Given the description of an element on the screen output the (x, y) to click on. 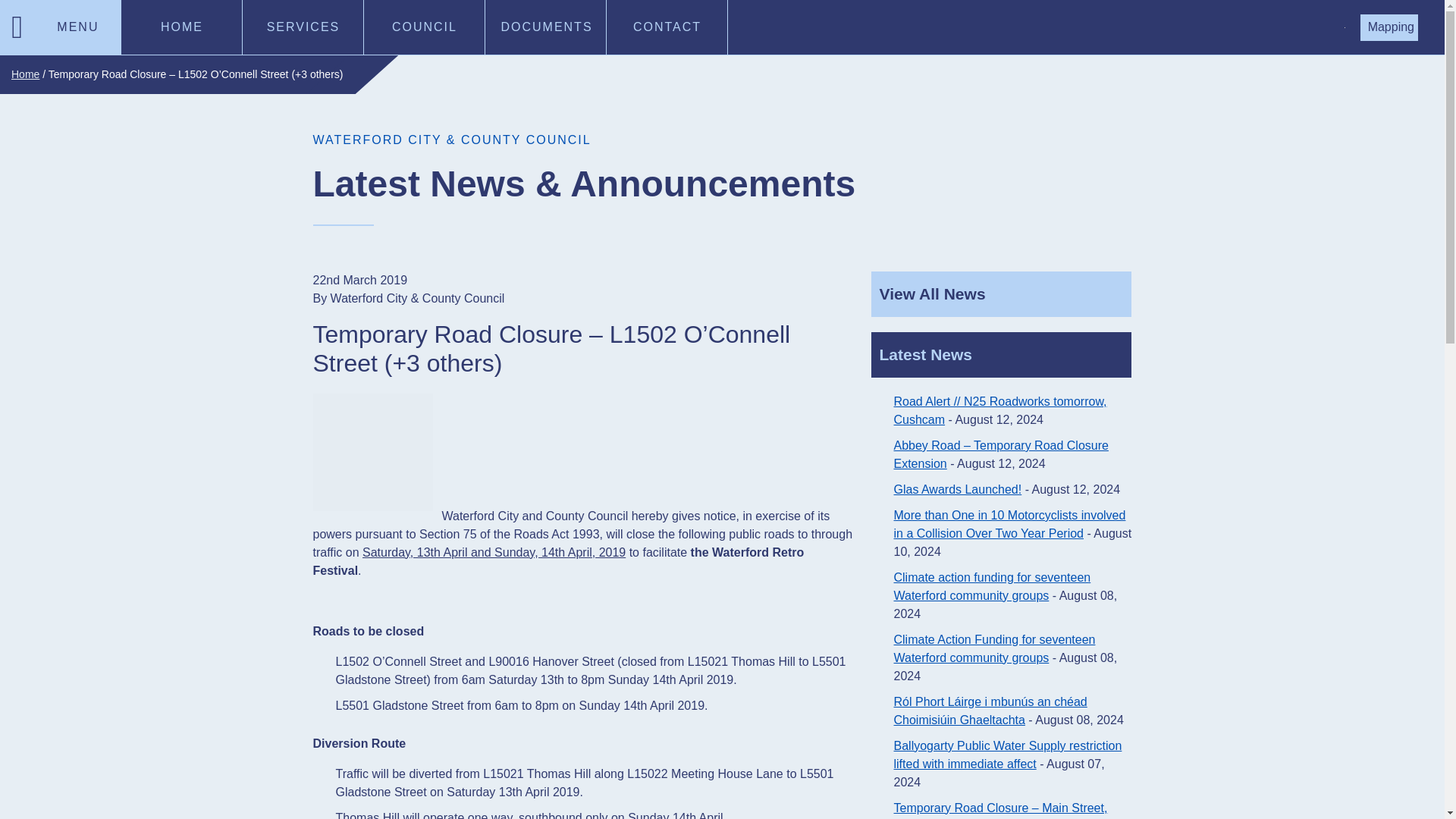
Glas Awards Launched! (957, 489)
View All News (1000, 293)
COUNCIL (424, 27)
SERVICES (303, 27)
HOME (181, 27)
